Given the description of an element on the screen output the (x, y) to click on. 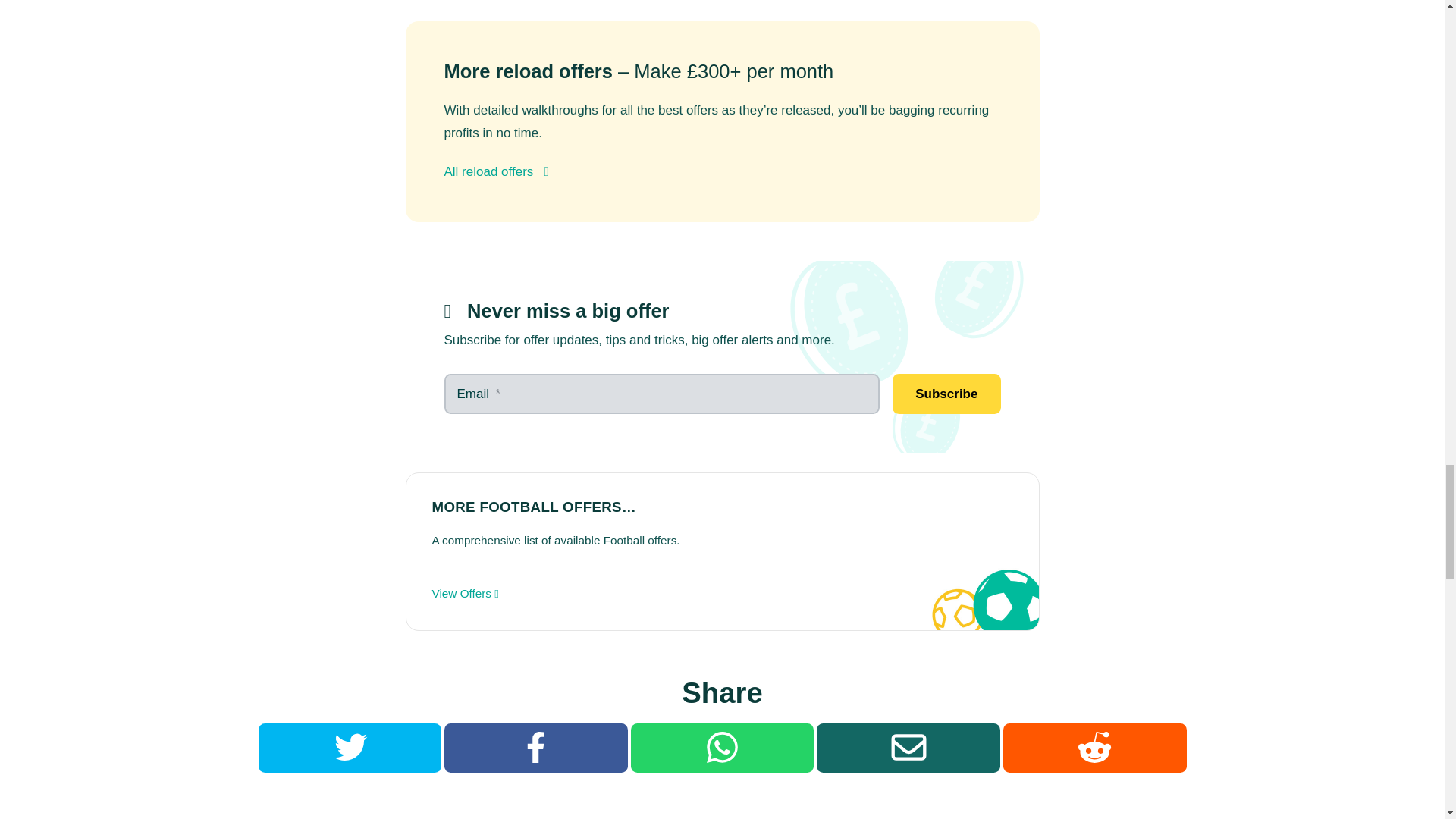
Subscribe (946, 393)
